Given the description of an element on the screen output the (x, y) to click on. 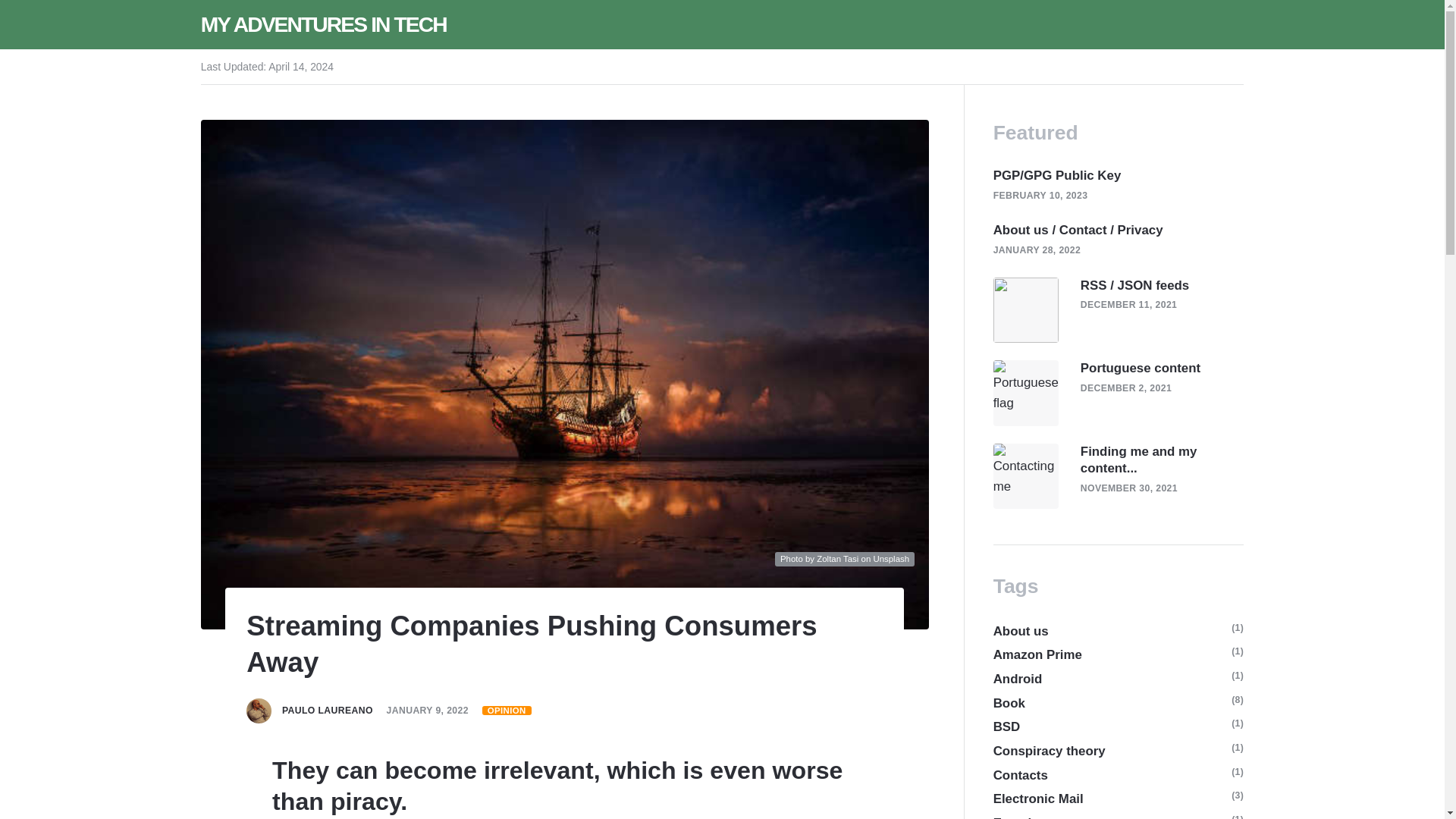
Android (1017, 679)
Paulo Laureano (327, 710)
Electronic Mail (1037, 798)
Book (1008, 702)
Finding me and my content... (1161, 459)
Contacts (1020, 774)
Conspiracy theory (1048, 751)
BSD (1006, 726)
Portuguese content (1139, 368)
About us (1020, 630)
OPINION (506, 709)
Exercise (1018, 816)
Amazon Prime (1036, 654)
MY ADVENTURES IN TECH (323, 24)
PAULO LAUREANO (327, 710)
